Given the description of an element on the screen output the (x, y) to click on. 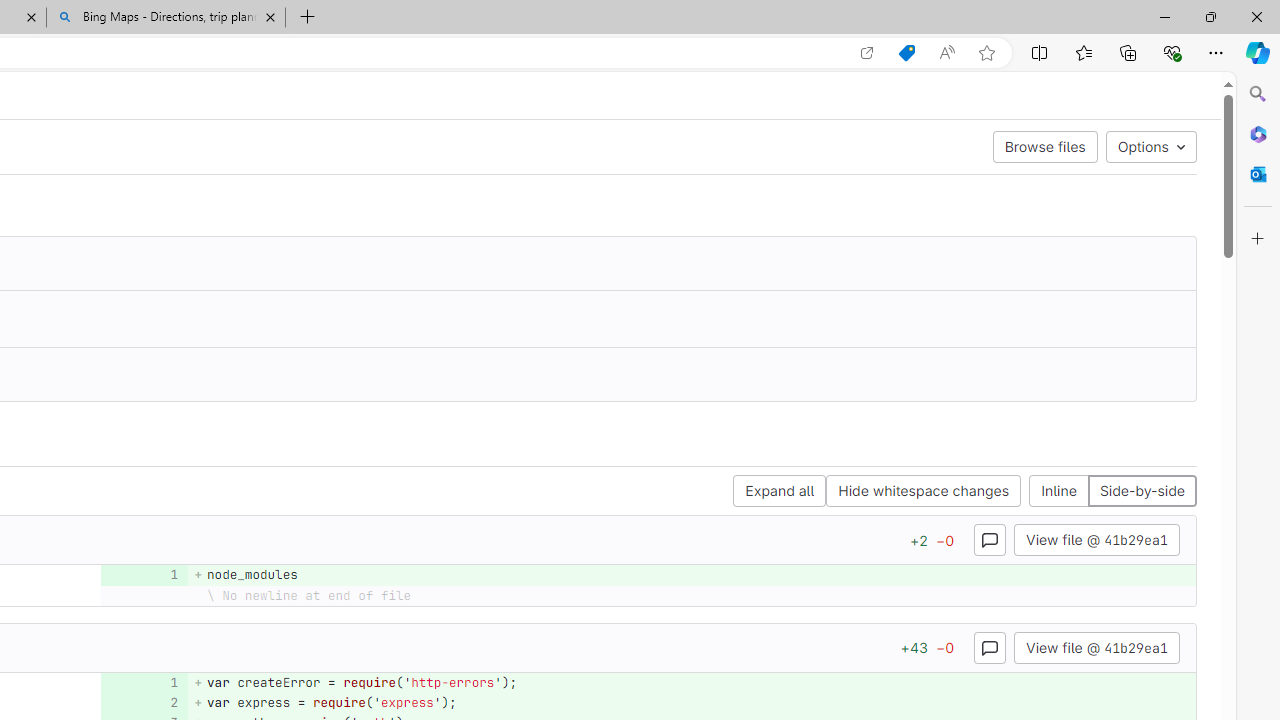
Outlook (1258, 174)
Add a comment to this line (138, 701)
1 (141, 681)
Class: s16 gl-icon gl-button-icon  (989, 647)
+ var express = require('express');  (691, 701)
+ var createError = require('http-errors');  (691, 681)
2 (141, 701)
Toggle comments for this file (990, 646)
Hide whitespace changes (923, 491)
Side-by-side (1141, 491)
